Given the description of an element on the screen output the (x, y) to click on. 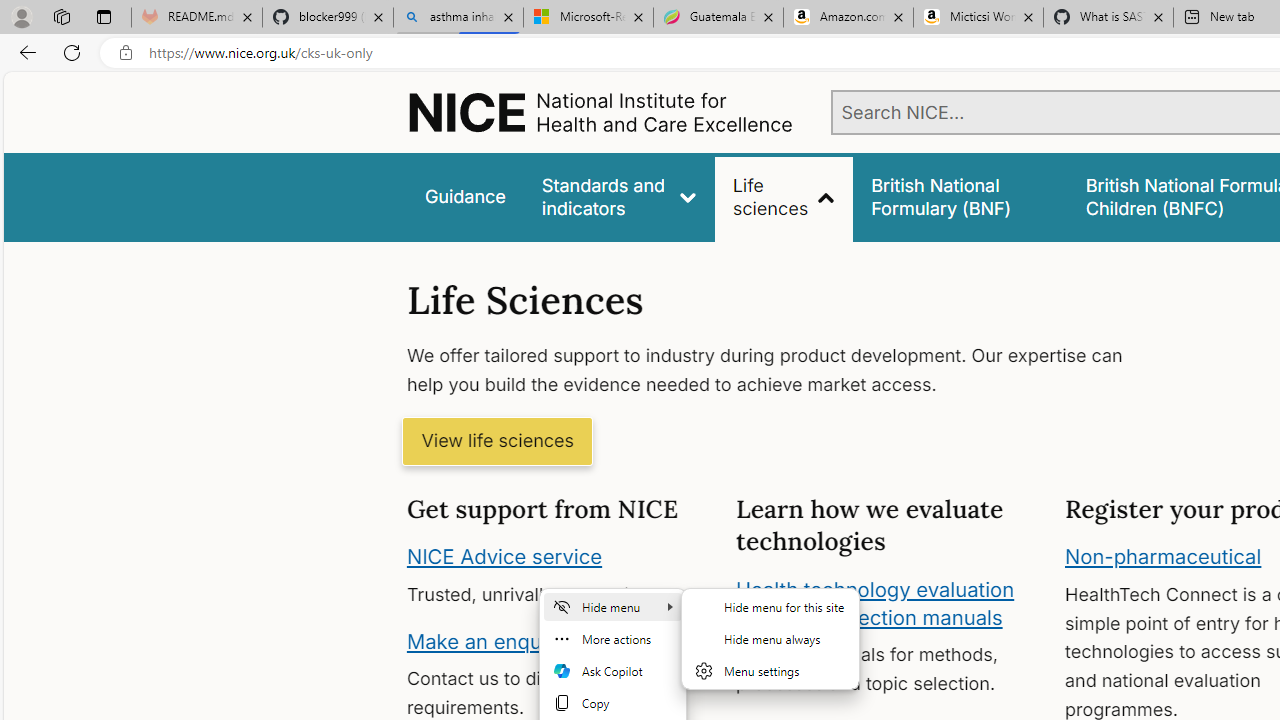
Copy (613, 702)
Health technology evaluation and topic selection manuals (874, 603)
Menu settings (770, 670)
Hide menu for this site (770, 606)
Hide menu (770, 638)
View life sciences (497, 441)
Non-pharmaceutical (1163, 557)
